Given the description of an element on the screen output the (x, y) to click on. 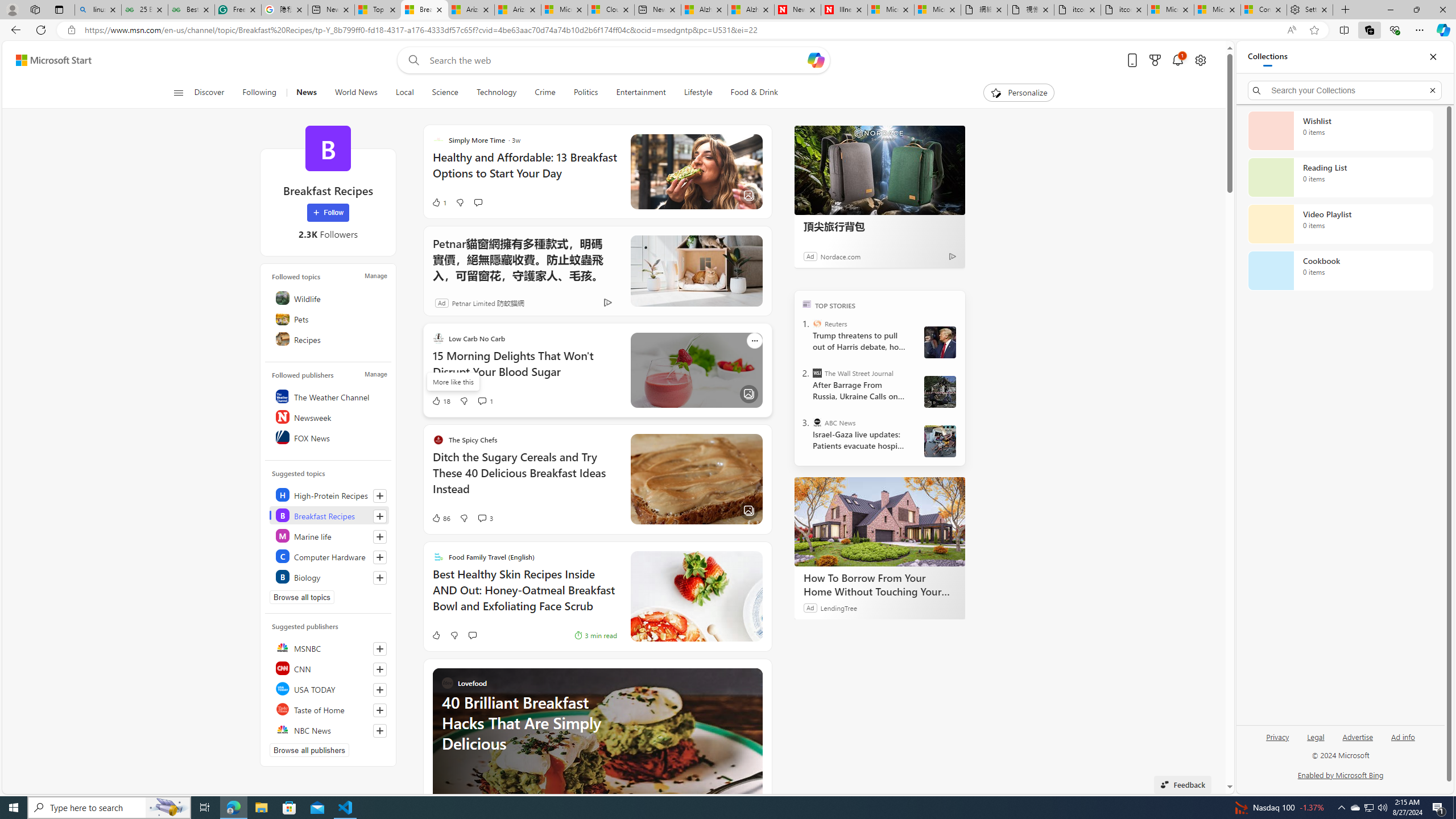
Open Copilot (816, 59)
Microsoft account | Privacy (1216, 9)
Recipes (328, 339)
Class: button-glyph (178, 92)
Ad Choice (606, 302)
Follow this source (379, 730)
USA TODAY (328, 688)
Start the conversation (472, 635)
Taste of Home (328, 709)
Local (403, 92)
Ad info (1402, 736)
